Given the description of an element on the screen output the (x, y) to click on. 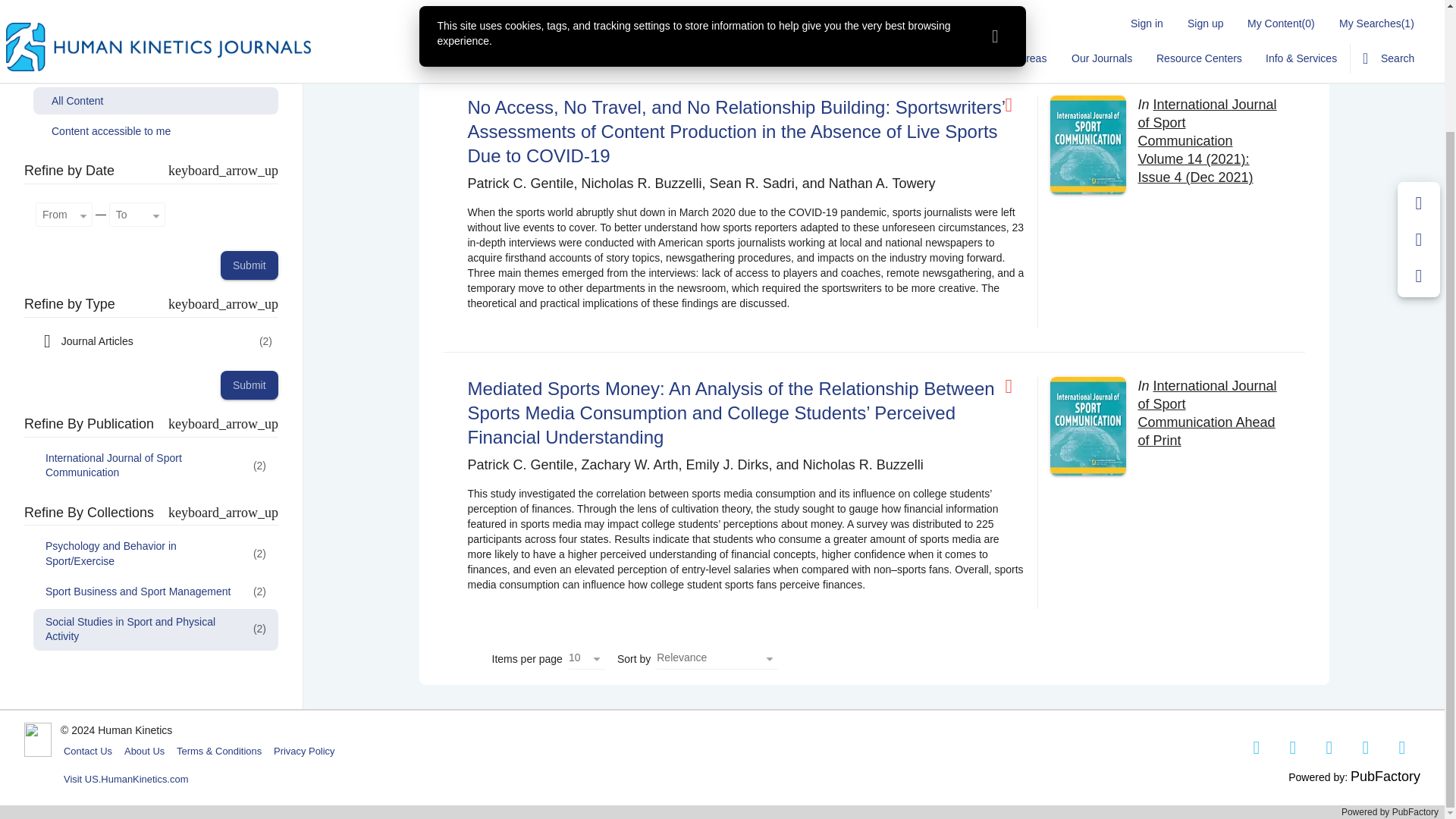
Save (1418, 56)
Contact Us (87, 750)
Email Page (1418, 93)
Restricted access (1015, 105)
Restricted access (1015, 386)
Privacy Policy (303, 750)
About Us (143, 750)
